Given the description of an element on the screen output the (x, y) to click on. 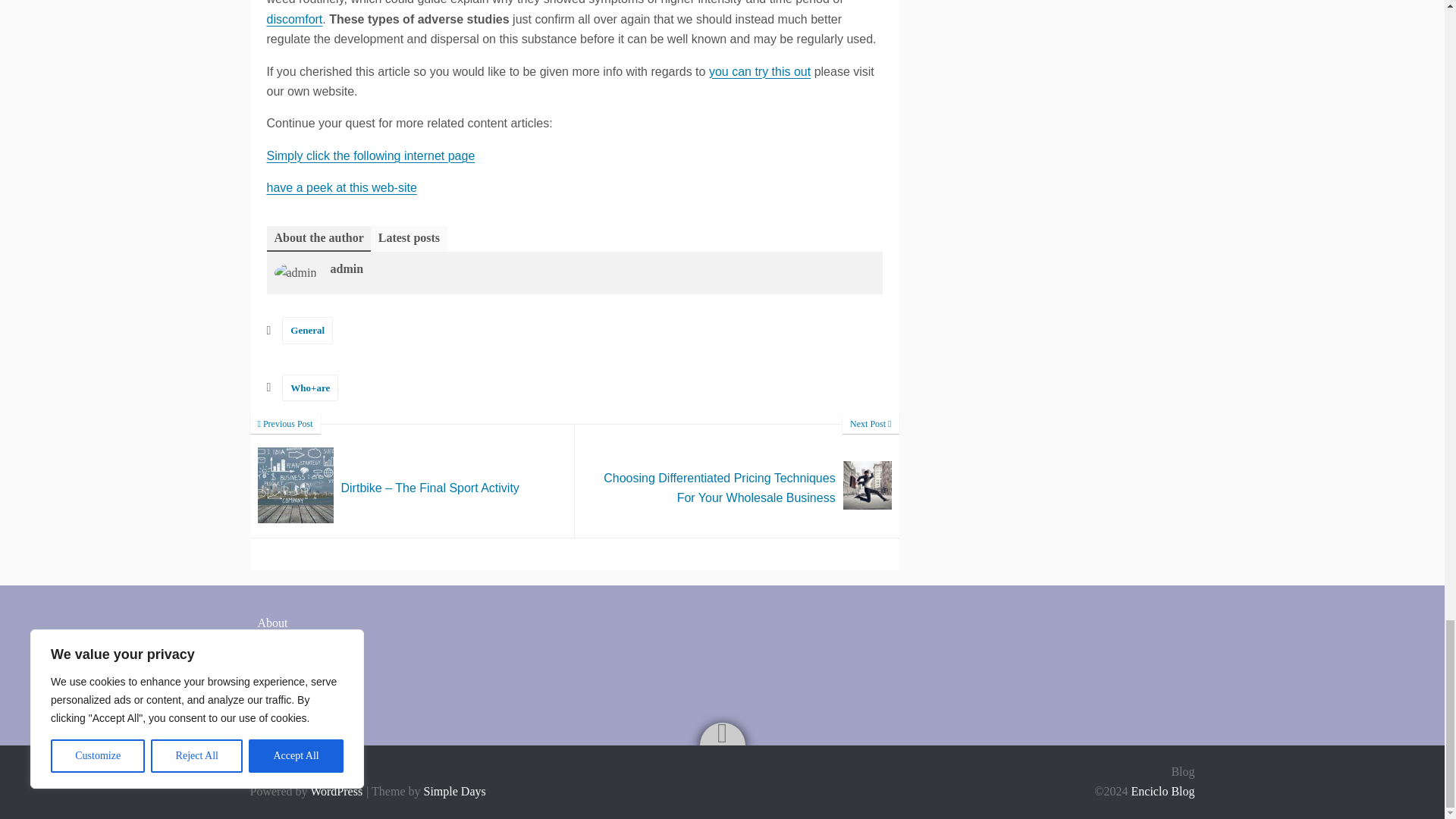
you can try this out (759, 71)
General (307, 329)
Simply click the following internet page (371, 155)
have a peek at this web-site (341, 187)
discomfort (294, 19)
